Given the description of an element on the screen output the (x, y) to click on. 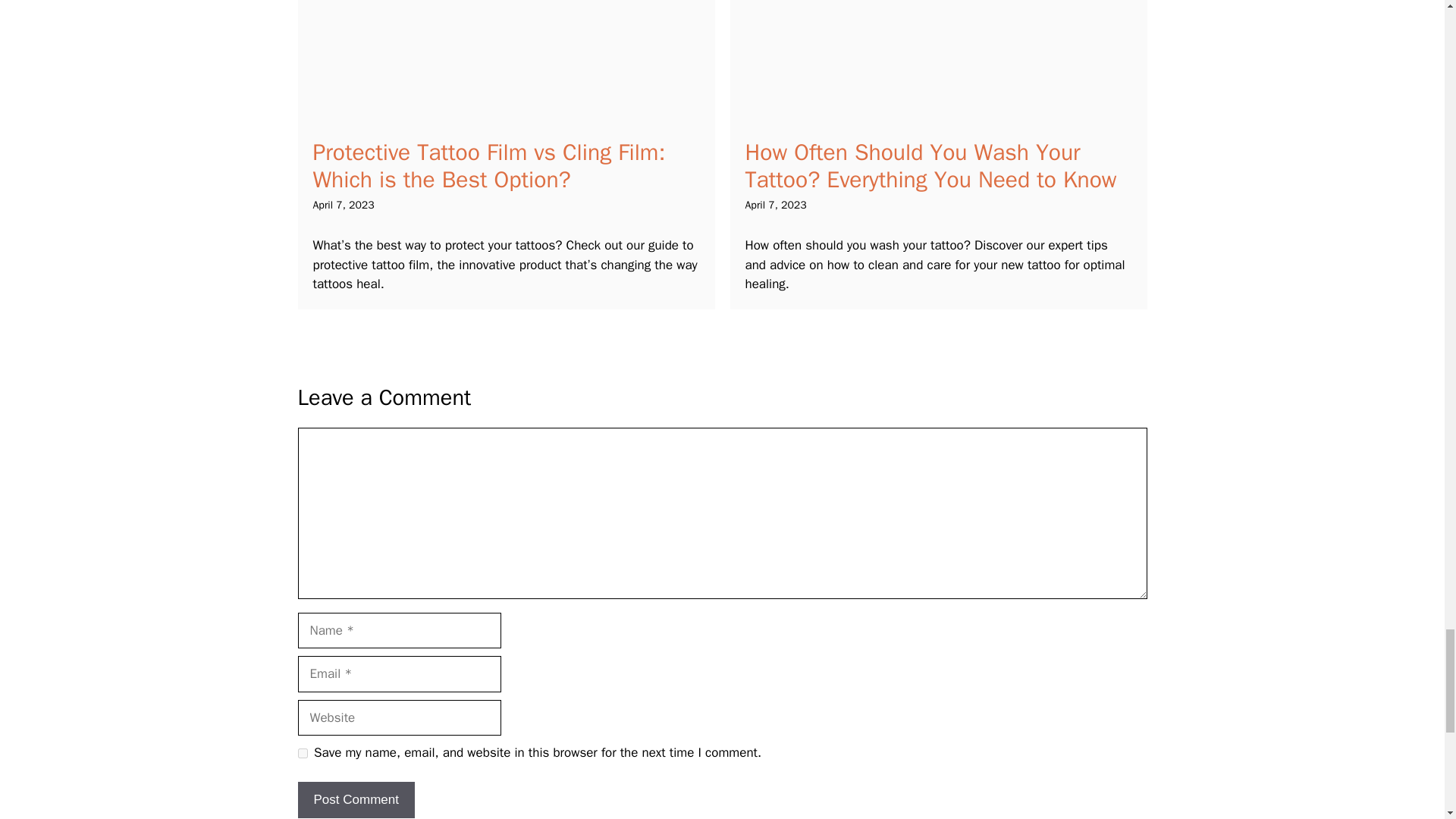
yes (302, 753)
Post Comment (355, 800)
Post Comment (355, 800)
